Given the description of an element on the screen output the (x, y) to click on. 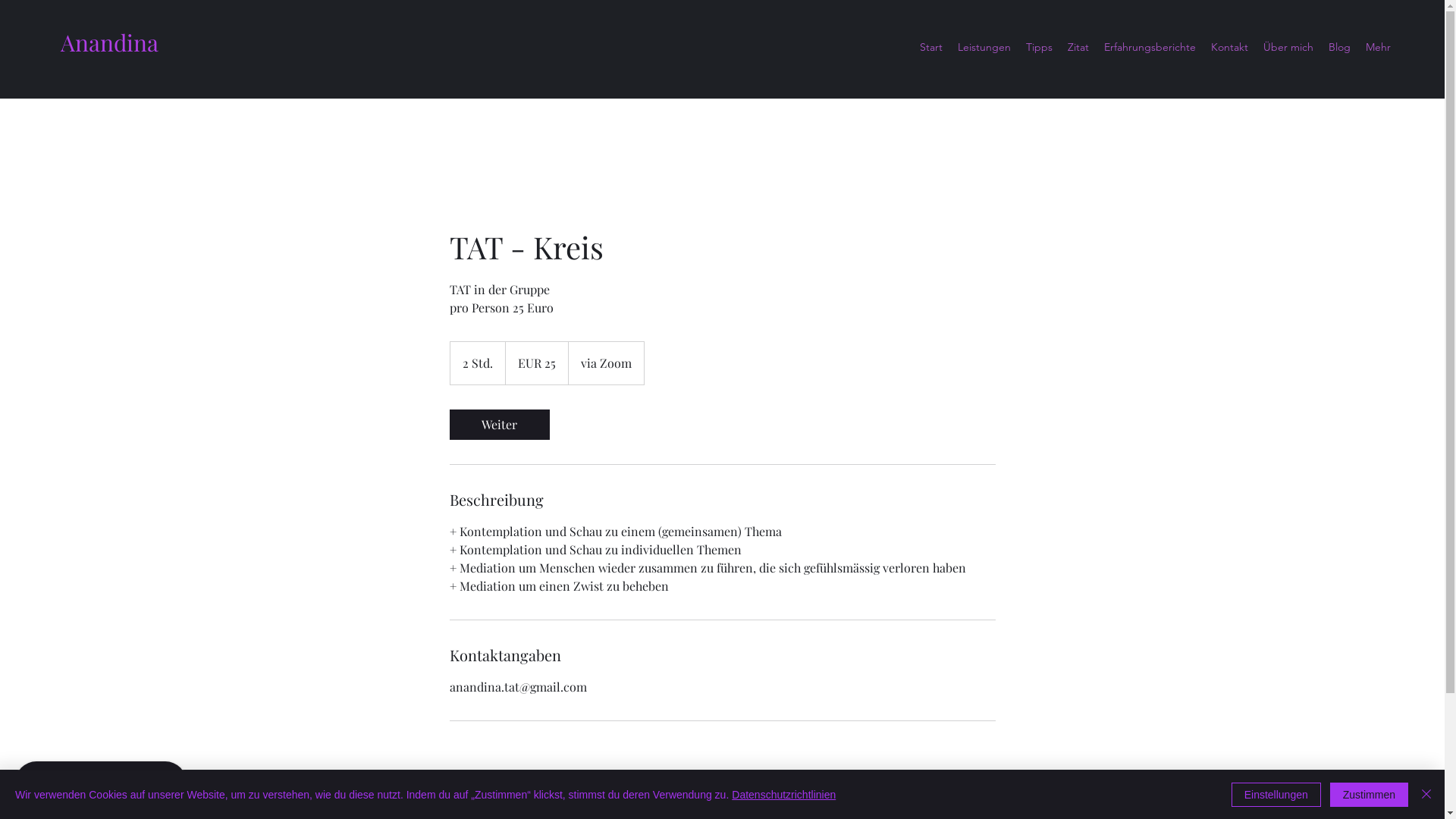
Leistungen Element type: text (984, 46)
Anandina Element type: text (109, 42)
Start Element type: text (931, 46)
Blog Element type: text (1339, 46)
Kontakt Element type: text (1229, 46)
Tipps Element type: text (1039, 46)
Weiter Element type: text (498, 424)
Zustimmen Element type: text (1369, 794)
Zitat Element type: text (1078, 46)
Datenschutzrichtlinien Element type: text (783, 794)
Erfahrungsberichte Element type: text (1149, 46)
Einstellungen Element type: text (1276, 794)
